Given the description of an element on the screen output the (x, y) to click on. 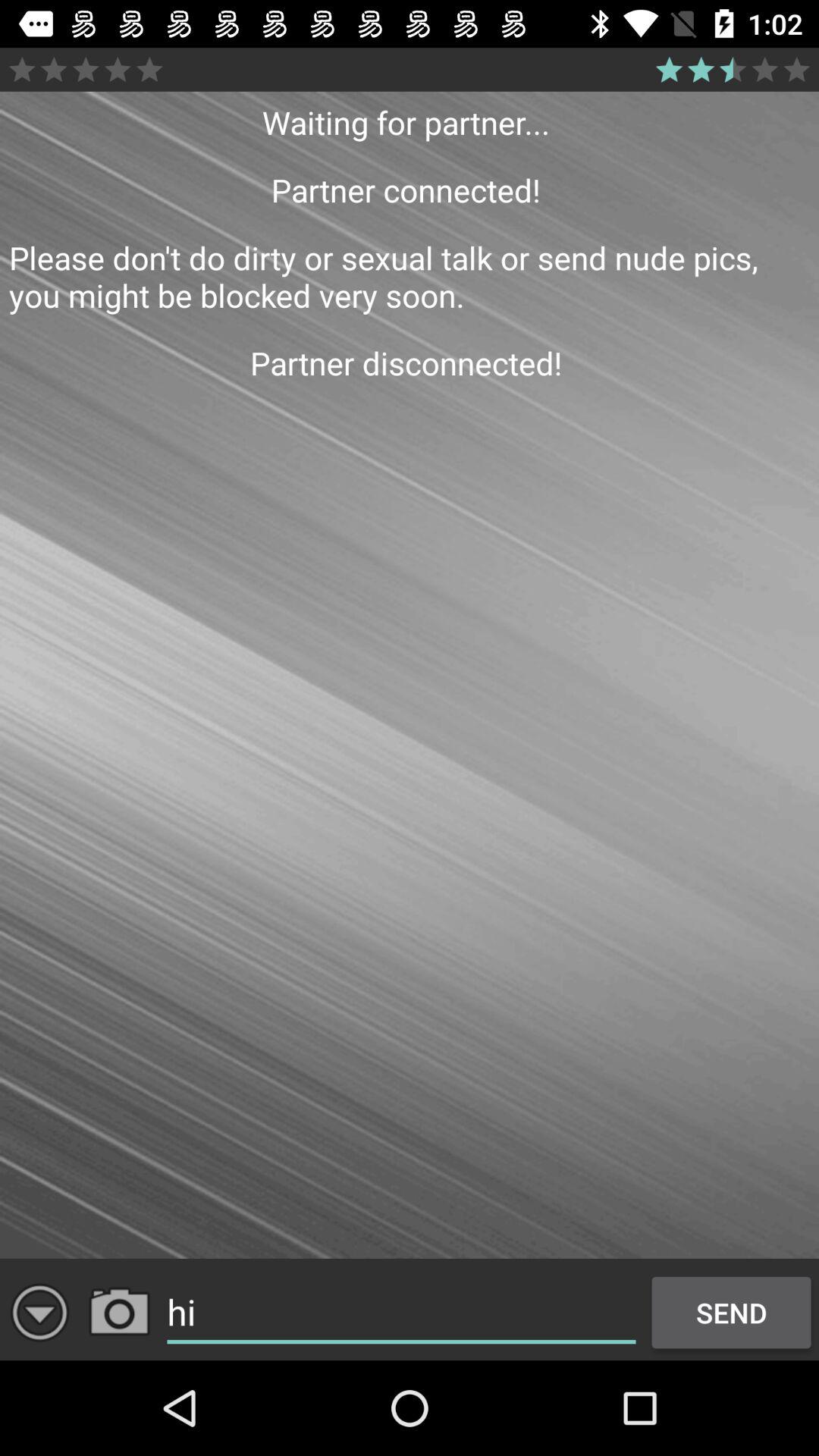
camera (119, 1312)
